Given the description of an element on the screen output the (x, y) to click on. 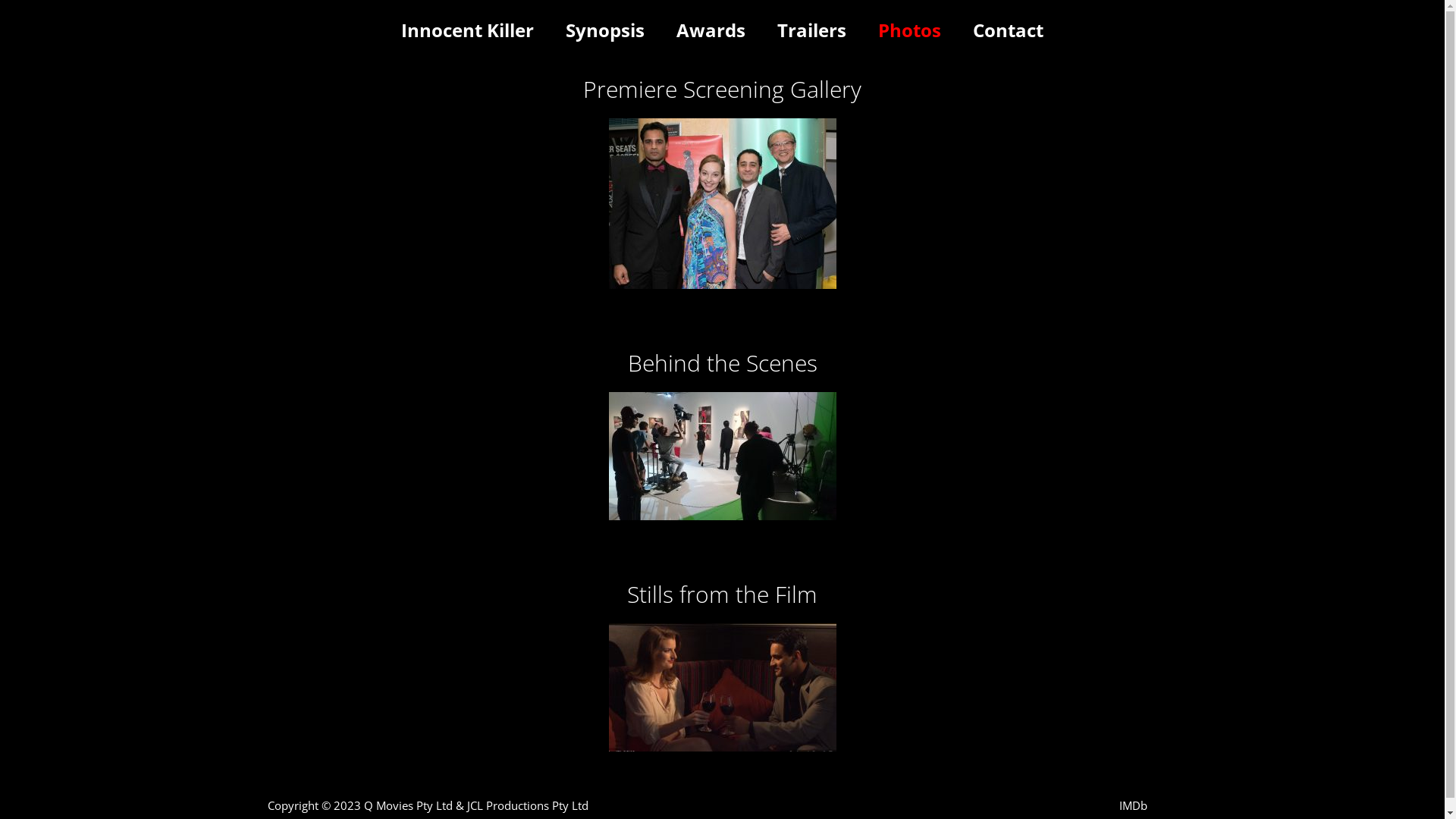
JCL Productions Pty Ltd Element type: text (527, 804)
Innocent Killer Element type: text (467, 30)
Premiere Screening Gallery Element type: text (722, 88)
Trailers Element type: text (811, 30)
IMDb Element type: text (1133, 804)
Awards Element type: text (710, 30)
Photos Element type: text (909, 30)
Contact Element type: text (1008, 30)
Stills from the Film Element type: text (722, 593)
Synopsis Element type: text (604, 30)
Behind the Scenes Element type: text (722, 362)
